Given the description of an element on the screen output the (x, y) to click on. 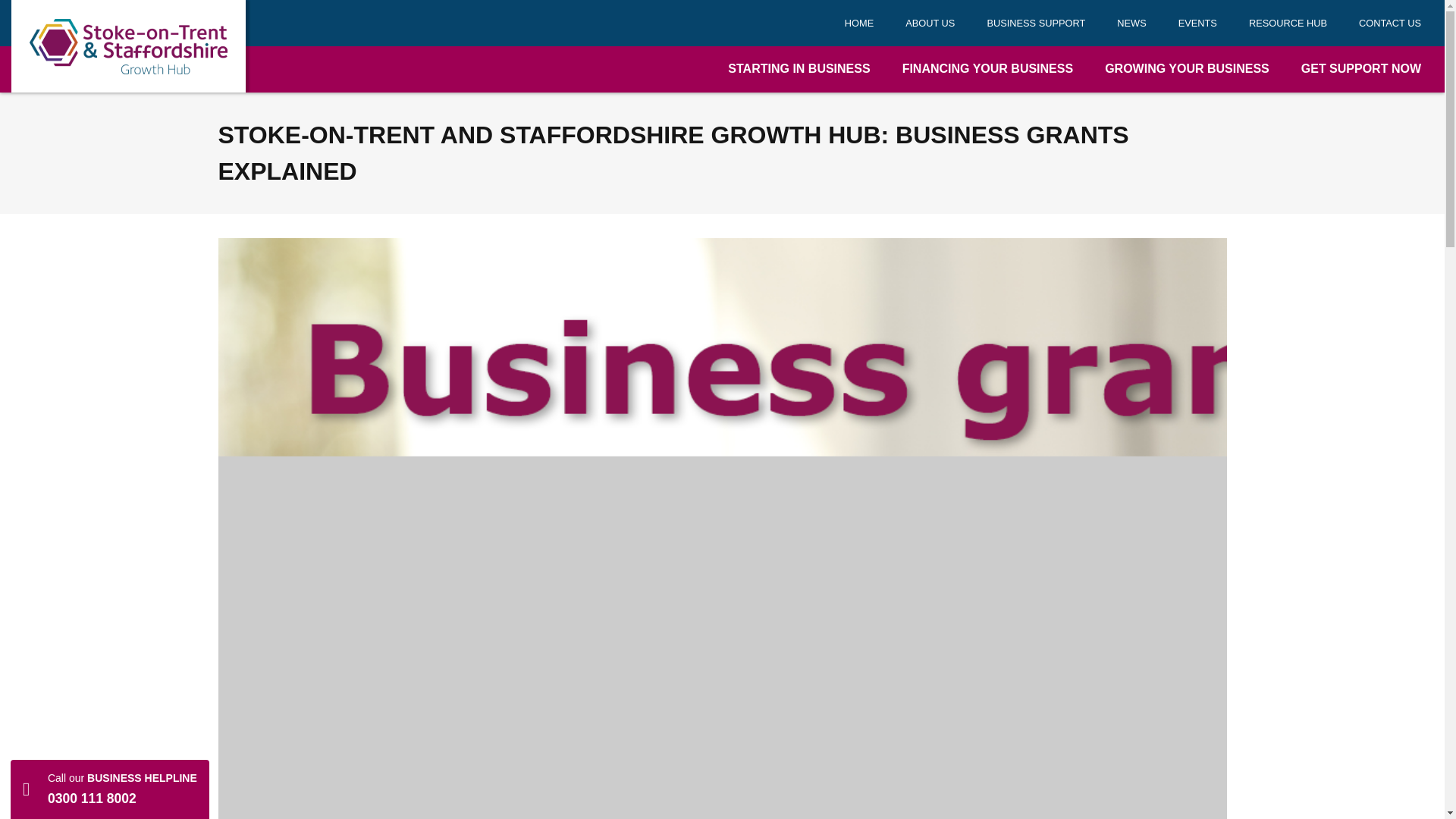
CONTACT US (1389, 22)
HOME (858, 22)
RESOURCE HUB (1287, 22)
STARTING IN BUSINESS (799, 68)
GET SUPPORT NOW (1360, 68)
ABOUT US (929, 22)
EVENTS (1197, 22)
Home (858, 22)
Business Support (1035, 22)
Contact Us (1389, 22)
